Given the description of an element on the screen output the (x, y) to click on. 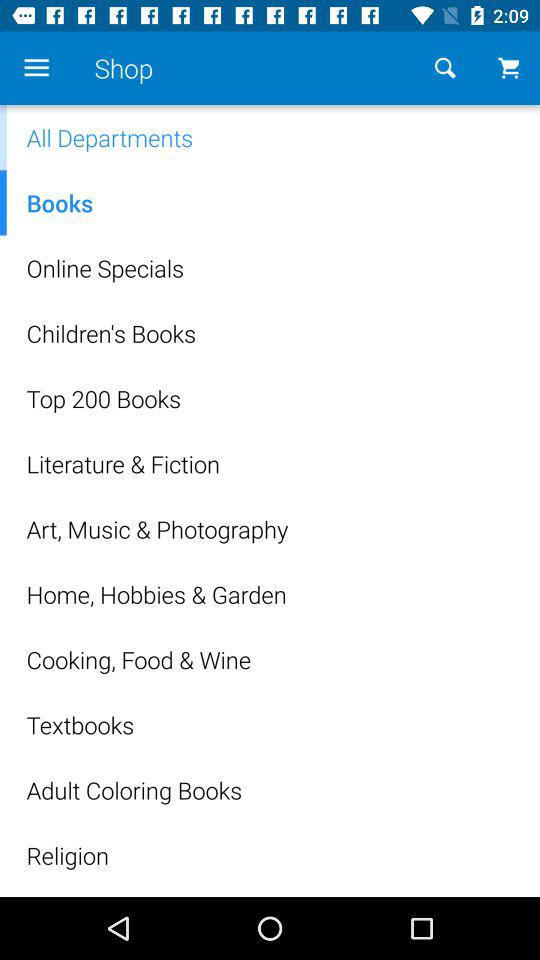
click the cart button on the top right side of the web page (508, 68)
